Given the description of an element on the screen output the (x, y) to click on. 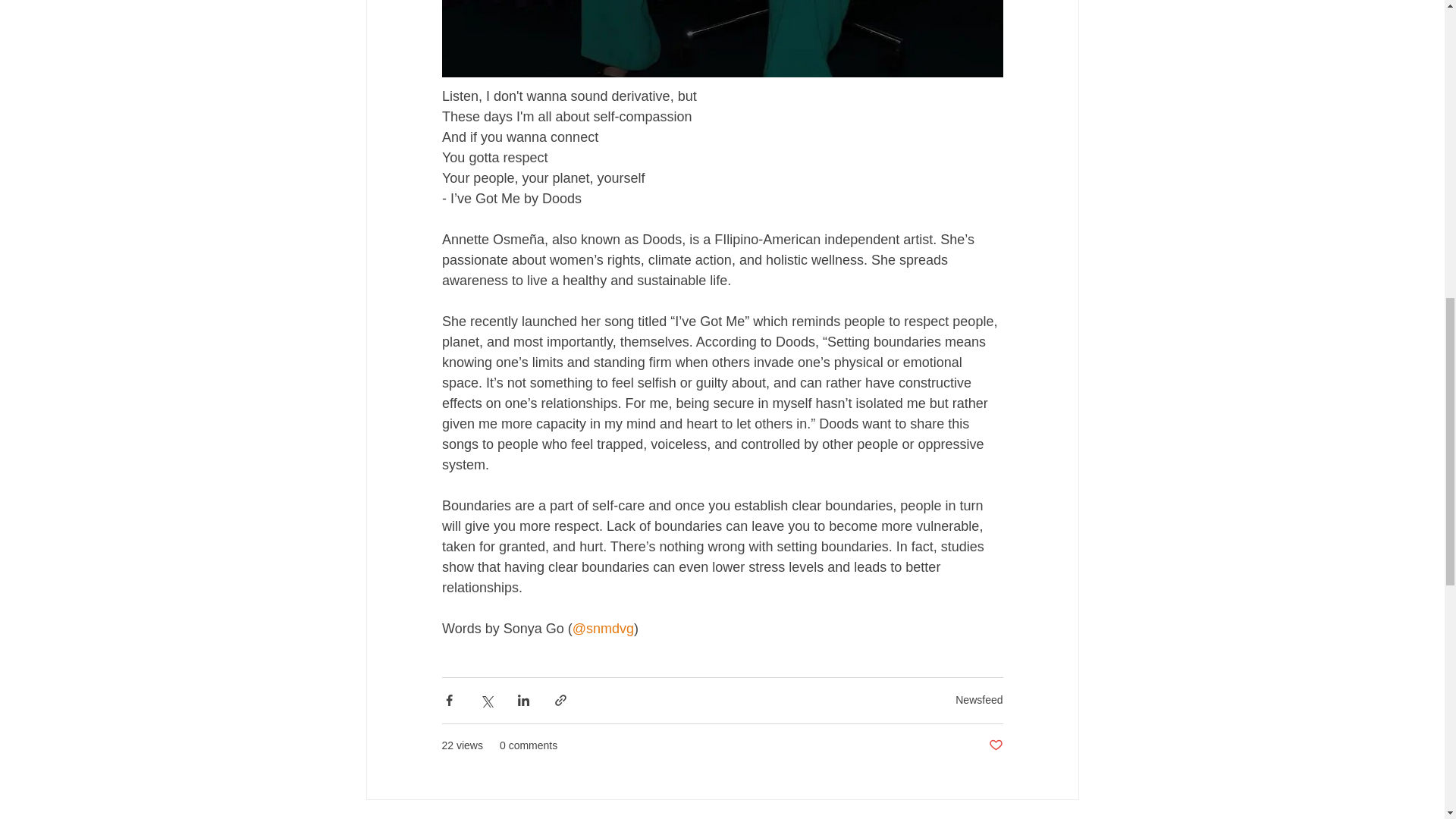
See All (1061, 818)
Post not marked as liked (995, 745)
Newsfeed (979, 699)
